Given the description of an element on the screen output the (x, y) to click on. 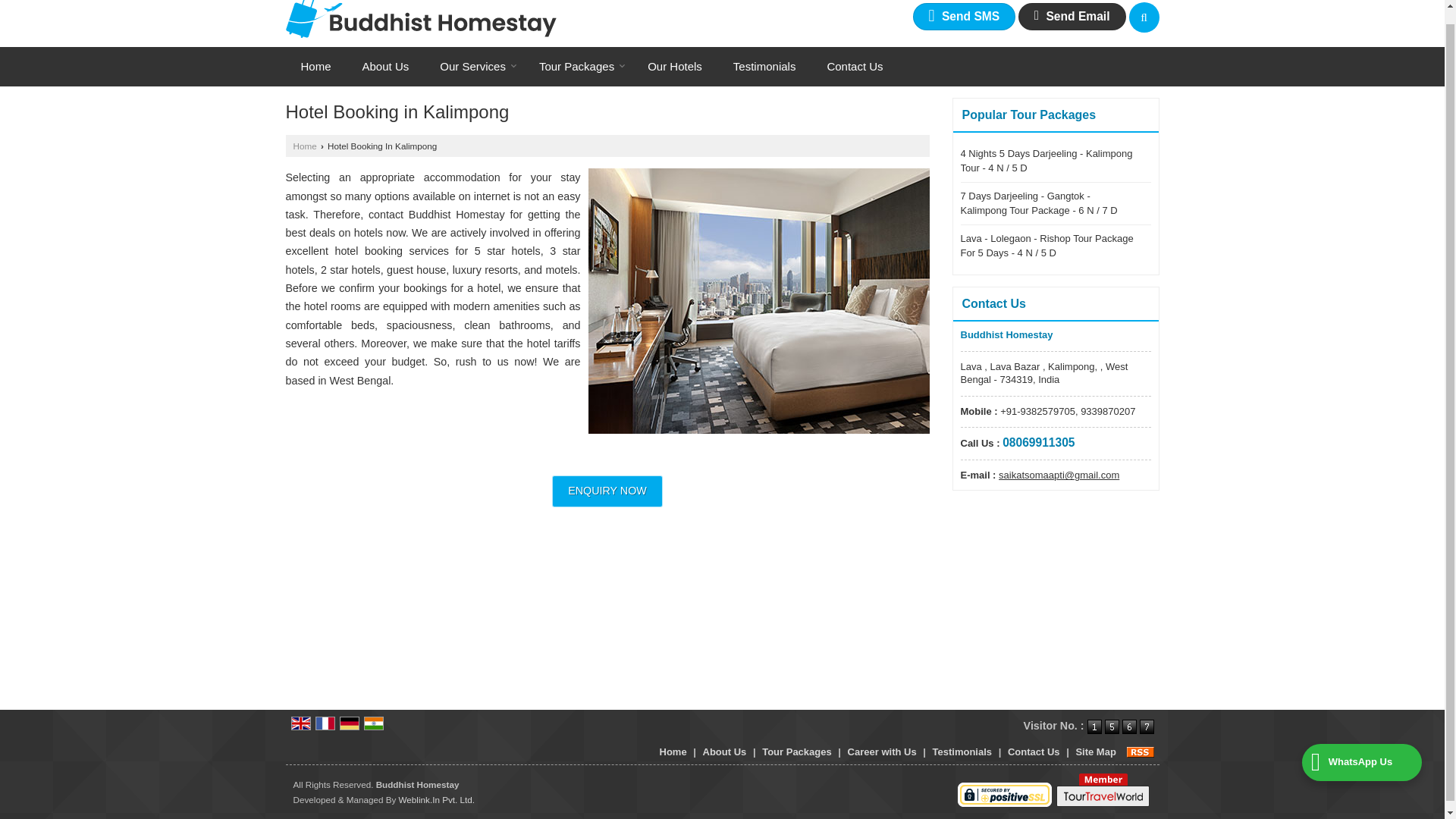
Search (1143, 17)
Send Email (1071, 16)
Our Hotels (674, 66)
ENQUIRY NOW (606, 490)
Send SMS (964, 16)
About Us (386, 66)
Our Services (473, 66)
Home (315, 66)
Home (303, 145)
Tour Packages (577, 66)
Contact Us (854, 66)
Buddhist Homestay (420, 19)
Home (315, 66)
Our Services (473, 66)
About Us (386, 66)
